Given the description of an element on the screen output the (x, y) to click on. 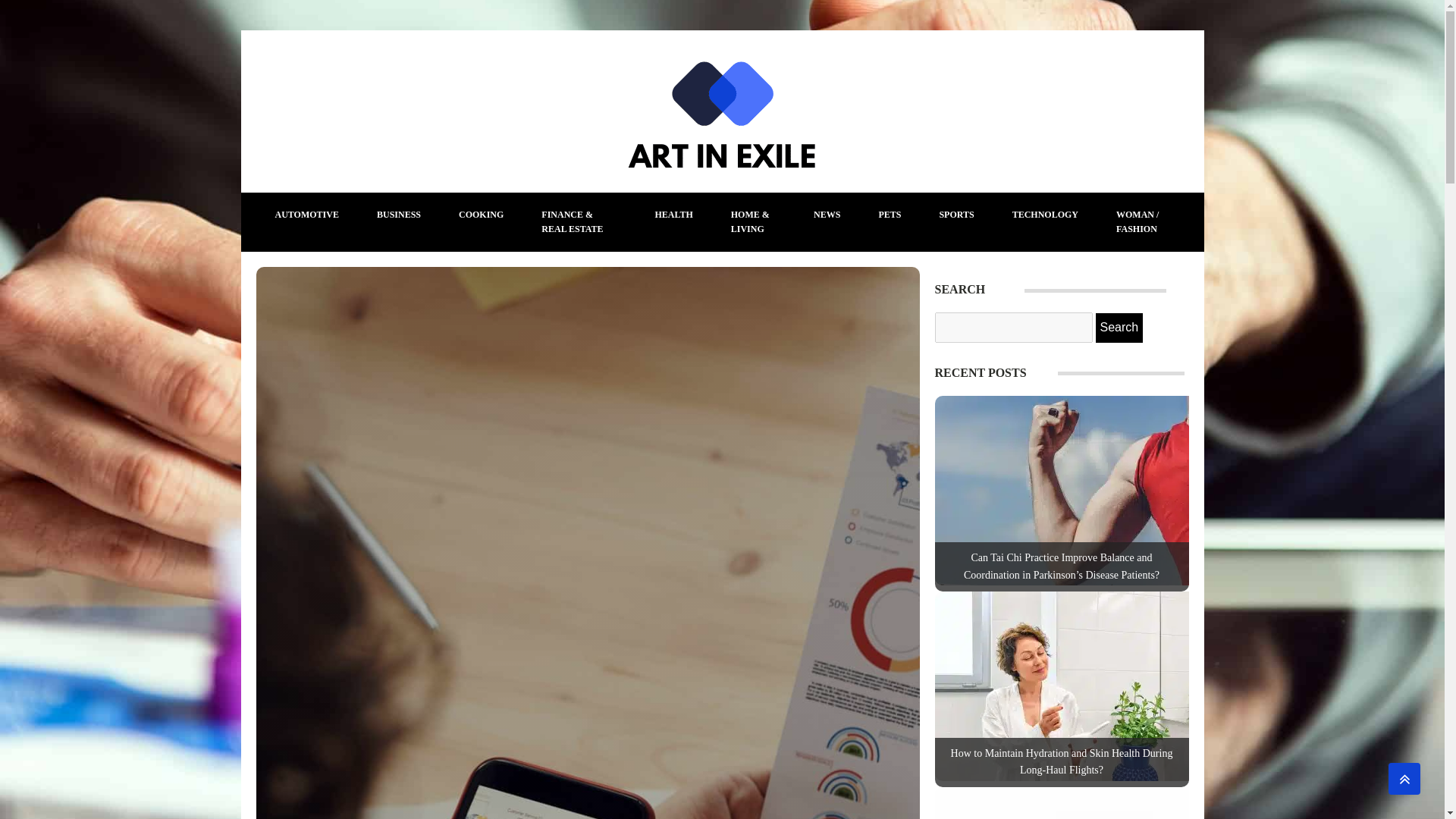
HEALTH (672, 214)
SPORTS (956, 214)
BUSINESS (398, 214)
PETS (889, 214)
COOKING (480, 214)
NEWS (826, 214)
AUTOMOTIVE (307, 214)
